Given the description of an element on the screen output the (x, y) to click on. 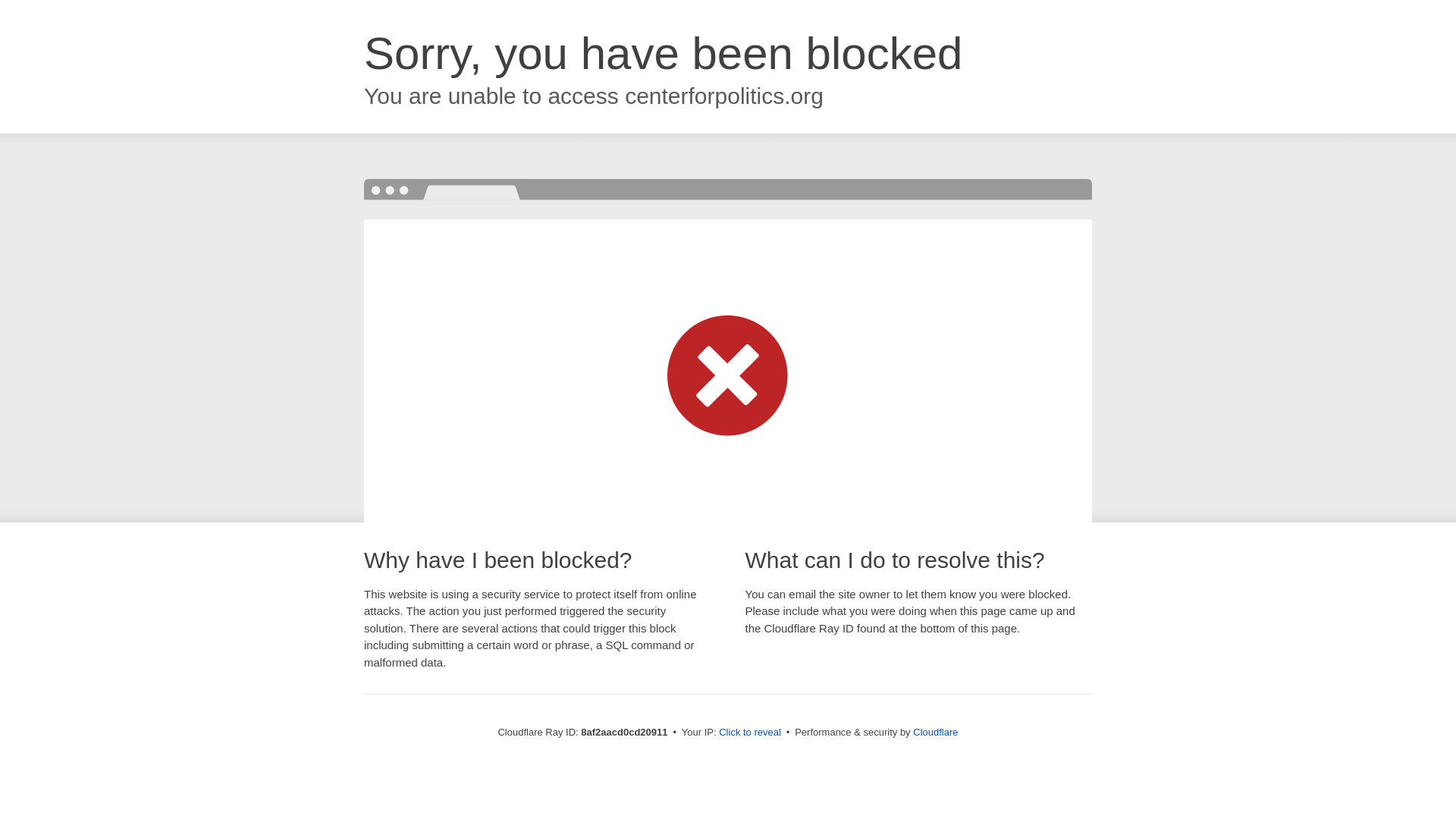
Cloudflare (935, 731)
Click to reveal (749, 732)
